Given the description of an element on the screen output the (x, y) to click on. 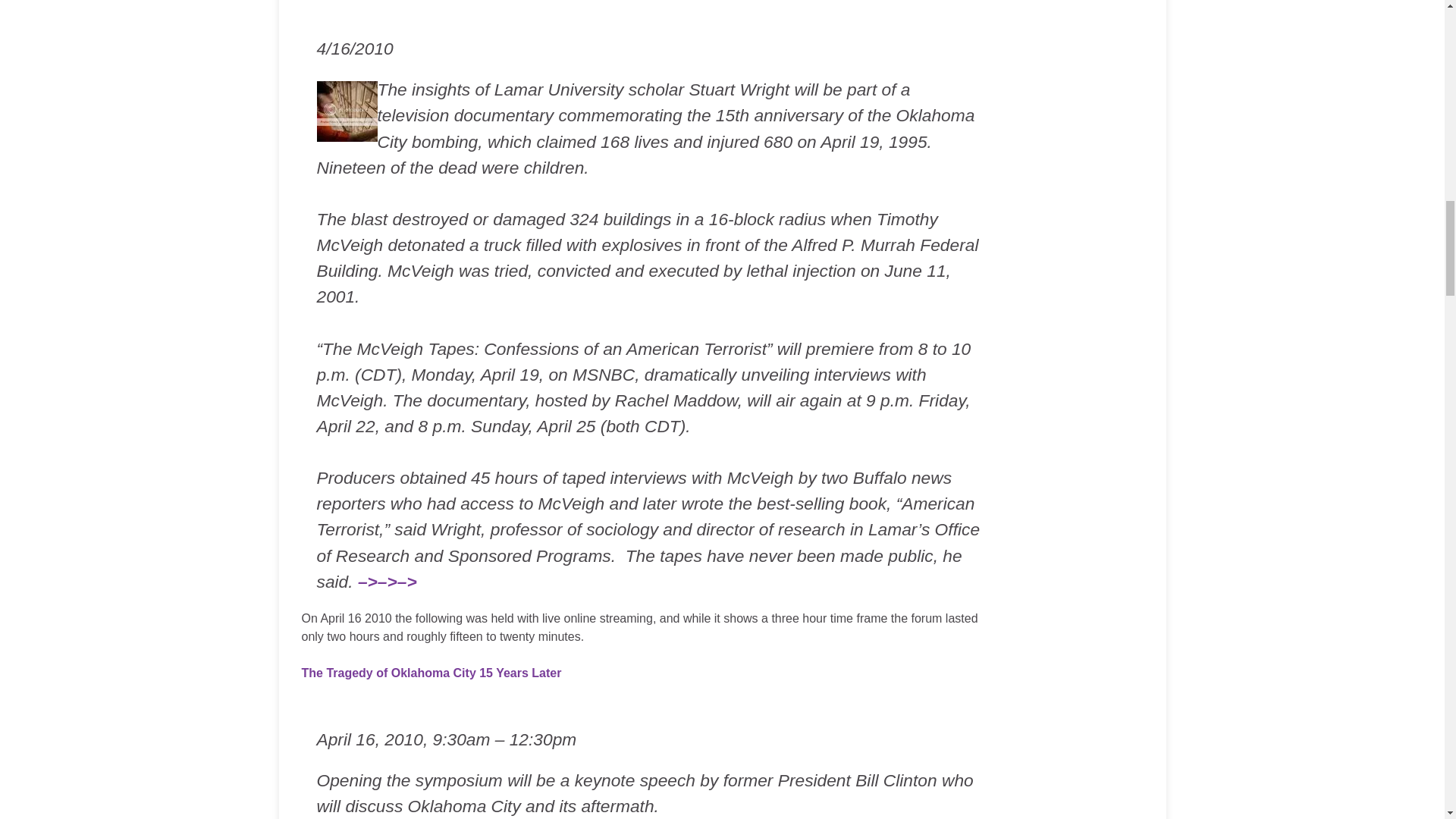
The Tragedy of Oklahoma City 15 Years Later (431, 672)
